Given the description of an element on the screen output the (x, y) to click on. 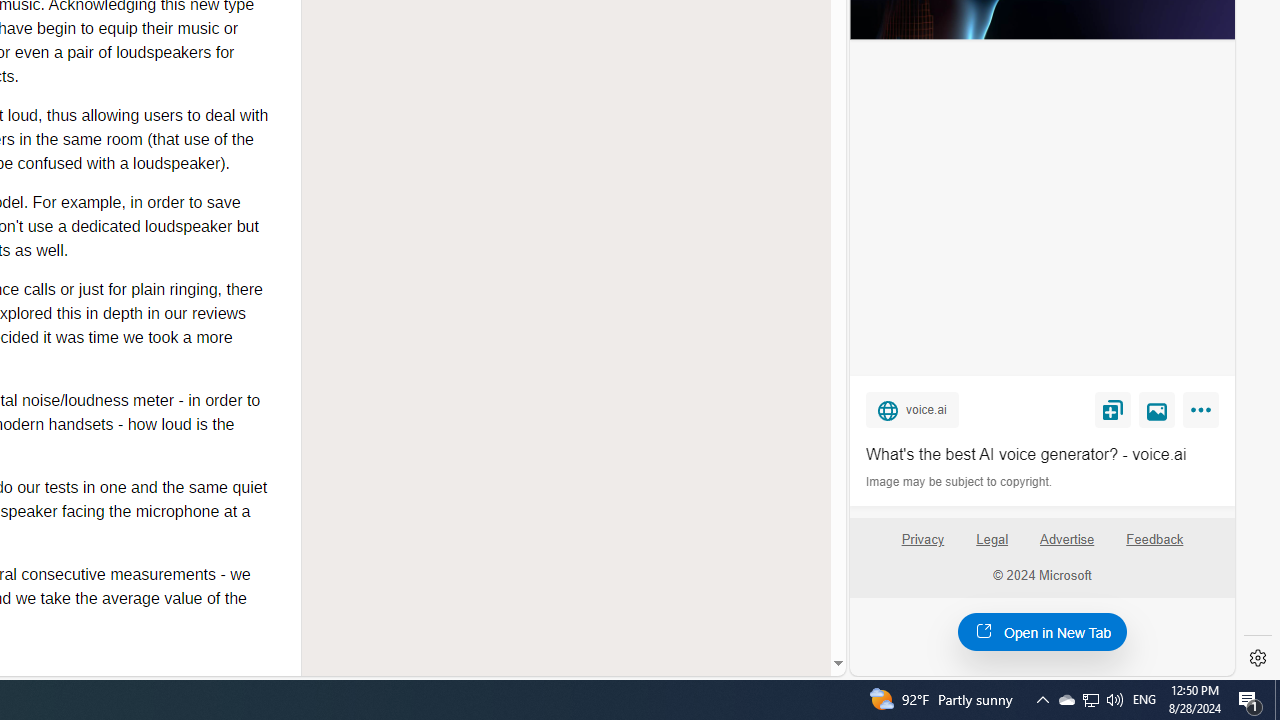
Legal (991, 539)
